Given the description of an element on the screen output the (x, y) to click on. 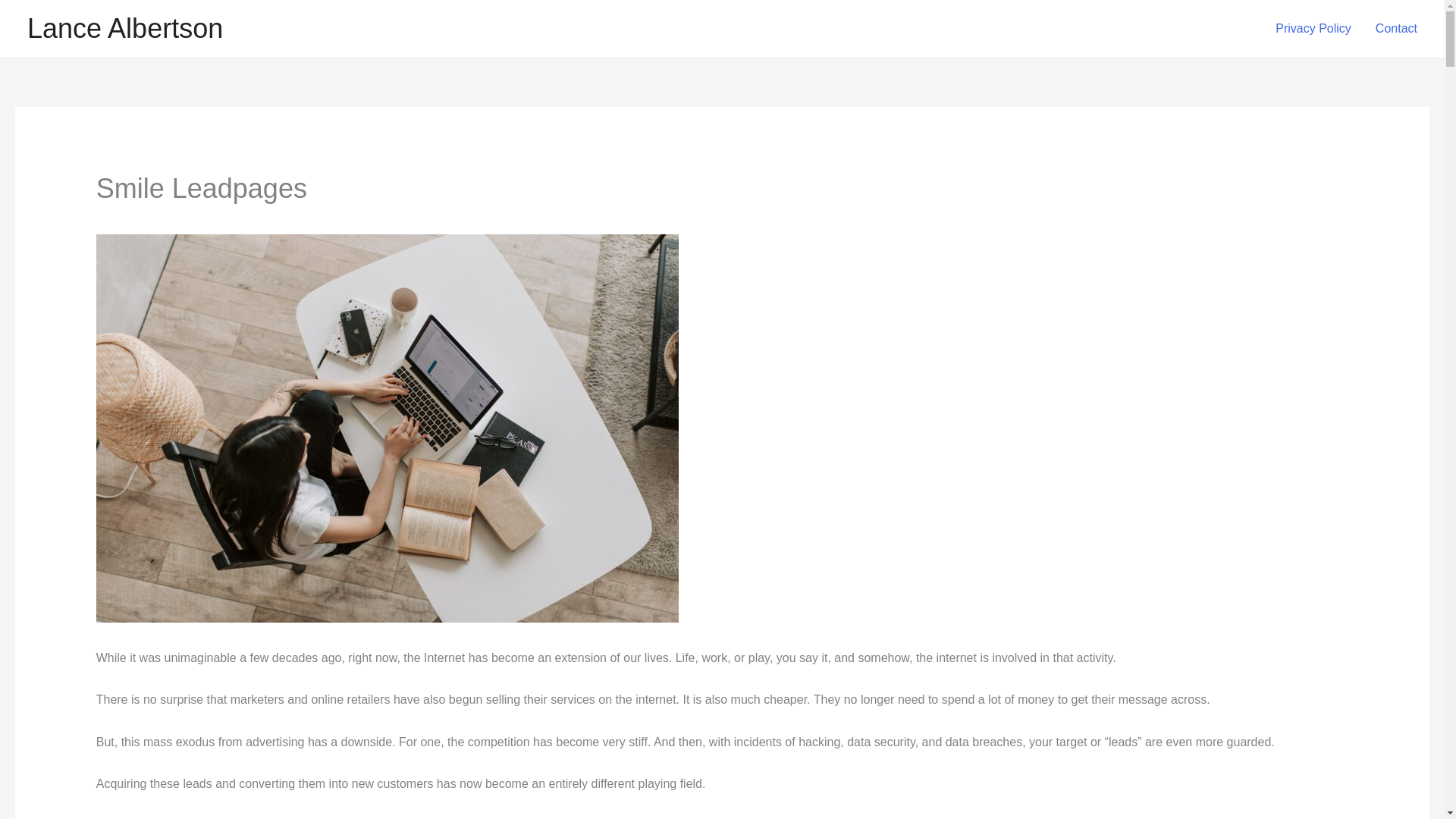
Lance Albertson (124, 28)
Privacy Policy (1312, 28)
Contact (1395, 28)
